Given the description of an element on the screen output the (x, y) to click on. 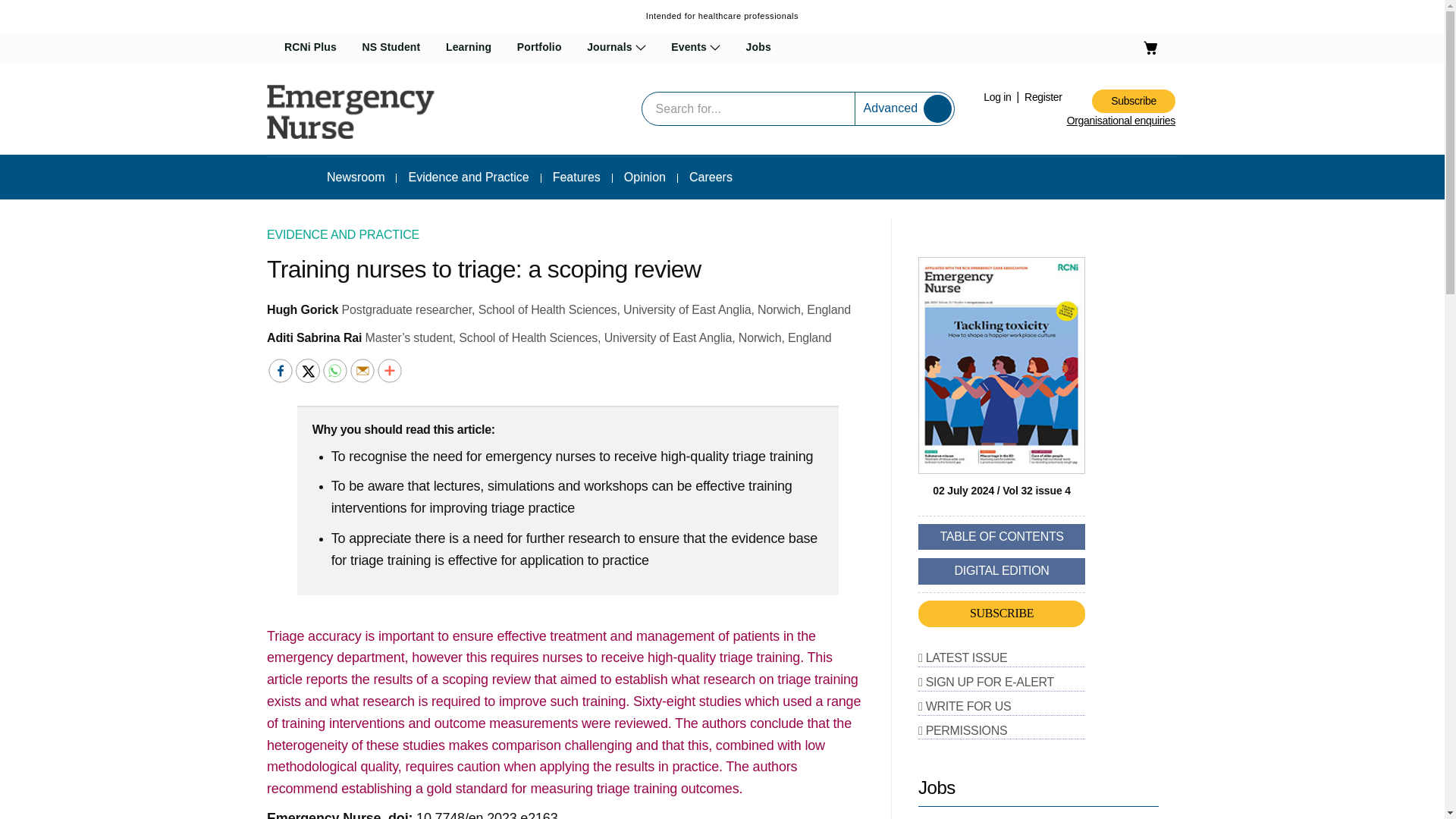
Learning (468, 47)
Organisational enquiries (1120, 120)
Facebook (280, 370)
Subscribe (1133, 101)
Evidence and Practice (468, 177)
Whatsapp (335, 370)
Cancer Nursing Practice (659, 85)
NS Student (391, 47)
Portfolio (539, 47)
More... (389, 370)
RCNi Plus (309, 47)
Advanced (890, 107)
X (307, 370)
Email (362, 370)
RCN Nursing Awards (734, 85)
